Given the description of an element on the screen output the (x, y) to click on. 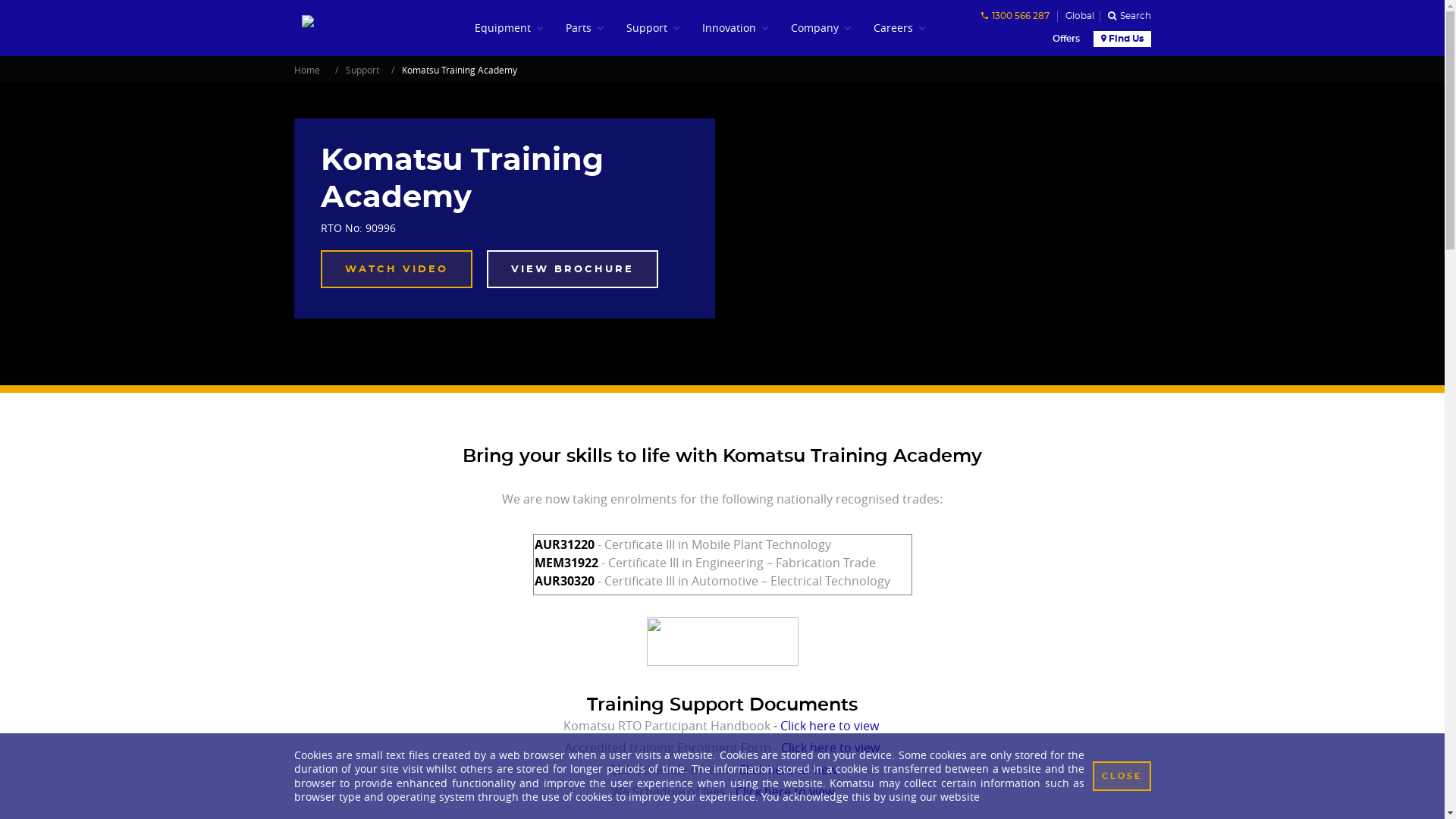
Offers Element type: text (1065, 39)
Support Element type: text (362, 69)
Careers Element type: text (899, 27)
Click here to view  Element type: text (830, 725)
Search Element type: text (1124, 16)
VIEW BROCHURE Element type: text (572, 269)
Support Element type: text (652, 27)
-  Element type: text (776, 725)
1300 566 287 Element type: text (1013, 16)
Komatsu Training Academy Element type: text (459, 69)
Click here to view Element type: text (787, 769)
Find Us Element type: text (1122, 39)
  Element type: text (615, 725)
Global Element type: text (1077, 16)
Click here to view Element type: text (784, 791)
Click here to view Element type: text (830, 747)
WATCH VIDEO Element type: text (395, 269)
Equipment Element type: text (508, 27)
Parts Element type: text (584, 27)
Home Element type: text (307, 69)
Close Element type: text (1121, 775)
Company Element type: text (819, 27)
Innovation Element type: text (734, 27)
